Given the description of an element on the screen output the (x, y) to click on. 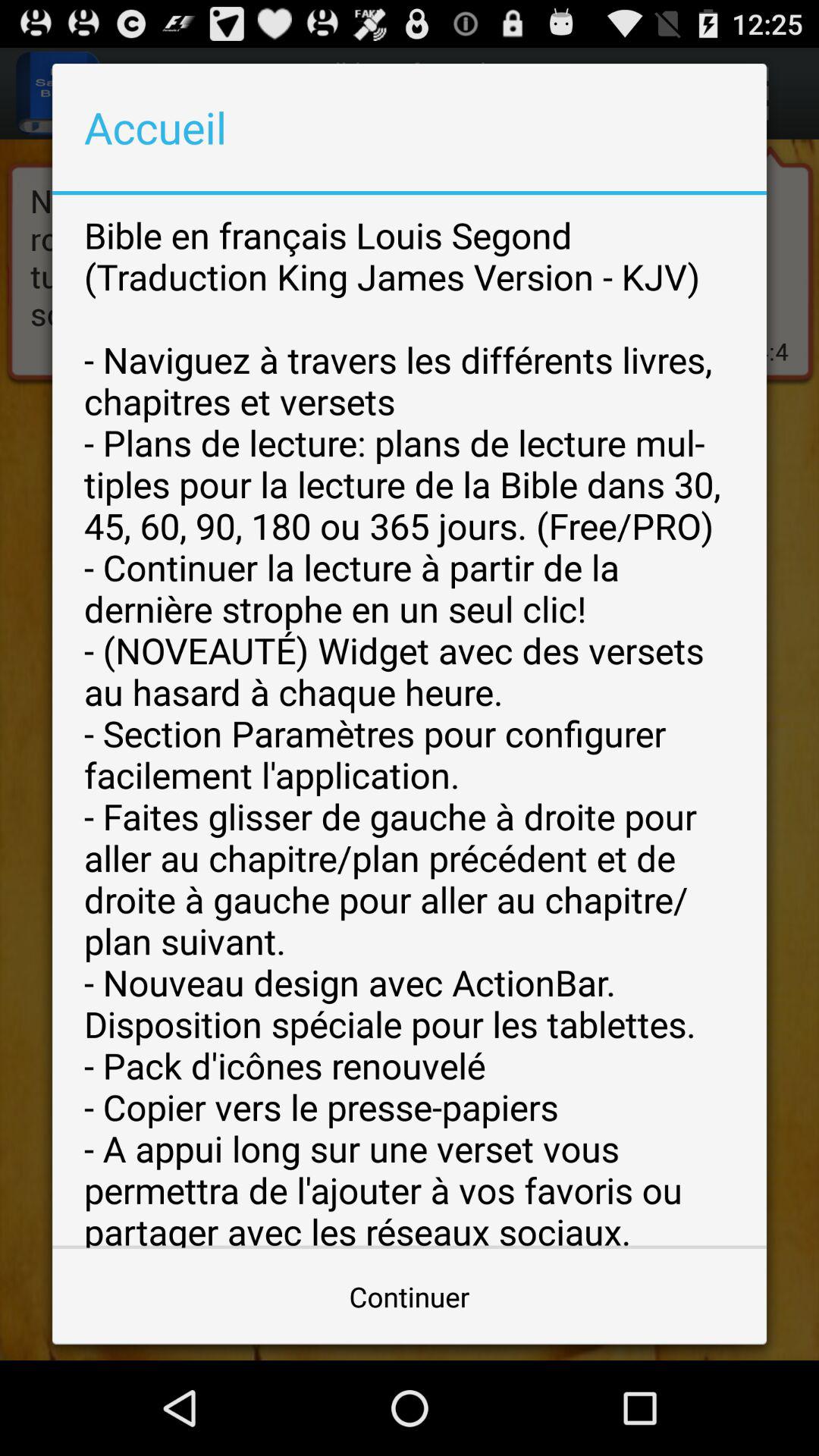
flip until continuer (409, 1296)
